Given the description of an element on the screen output the (x, y) to click on. 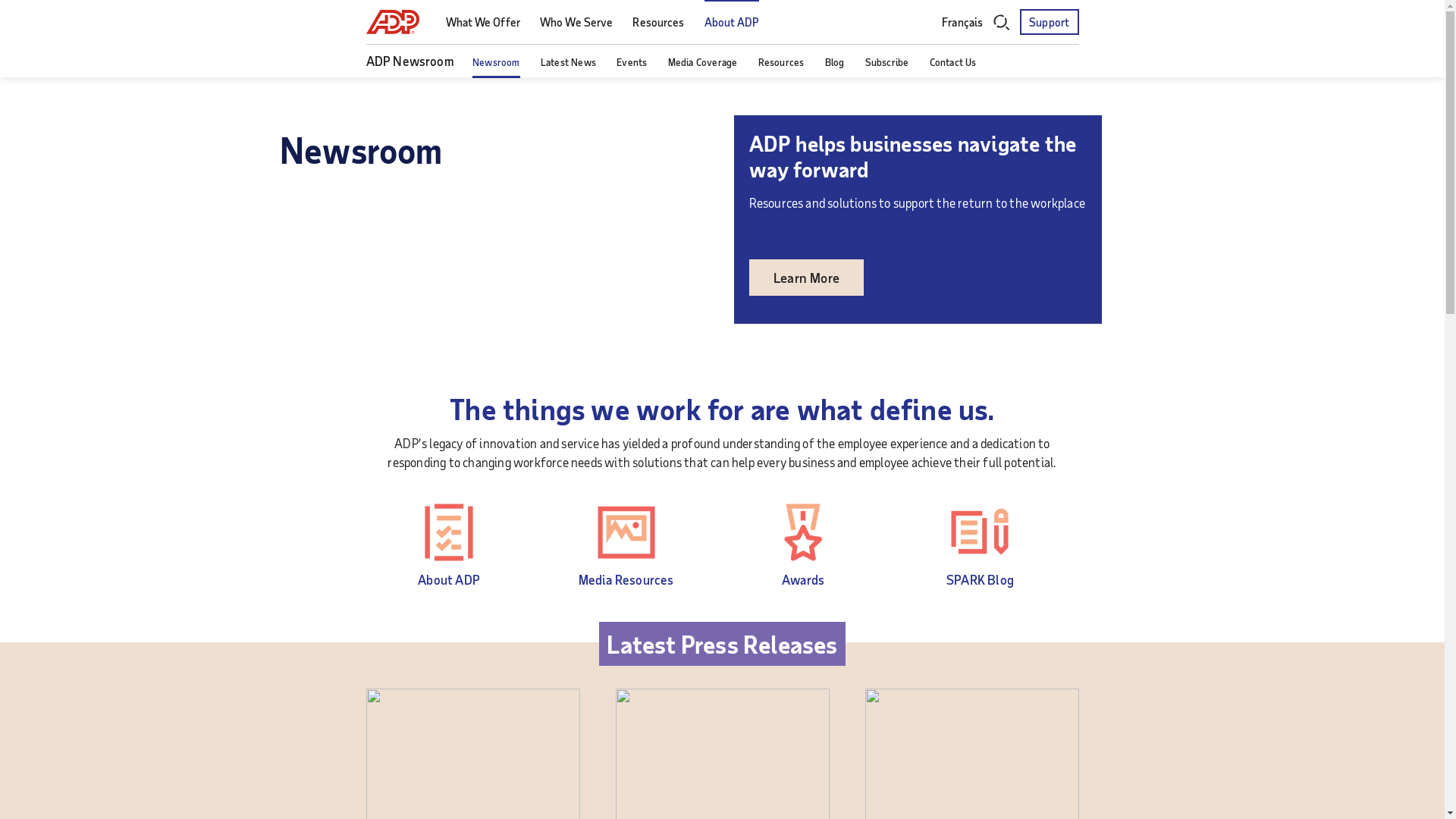
SPARK Blog Element type: text (979, 578)
Subscribe Element type: text (887, 62)
Events Element type: text (631, 62)
Ribbon with star Element type: hover (802, 532)
Resources Element type: text (658, 21)
paper and pen Element type: hover (979, 532)
About ADP Element type: text (731, 21)
Media Resources Element type: text (626, 578)
Blog Element type: text (834, 62)
Contact Us Element type: text (952, 62)
Learn More Element type: text (806, 277)
Media Coverage Element type: text (702, 62)
What We Offer Element type: text (482, 21)
Resources Element type: text (781, 62)
About ADP Element type: text (448, 578)
Support Element type: text (1048, 21)
Latest News Element type: text (568, 62)
framed landscape photo Element type: hover (626, 532)
Who We Serve Element type: text (575, 21)
Awards Element type: text (802, 578)
Checklist Element type: hover (448, 532)
Newsroom Element type: text (496, 62)
